Given the description of an element on the screen output the (x, y) to click on. 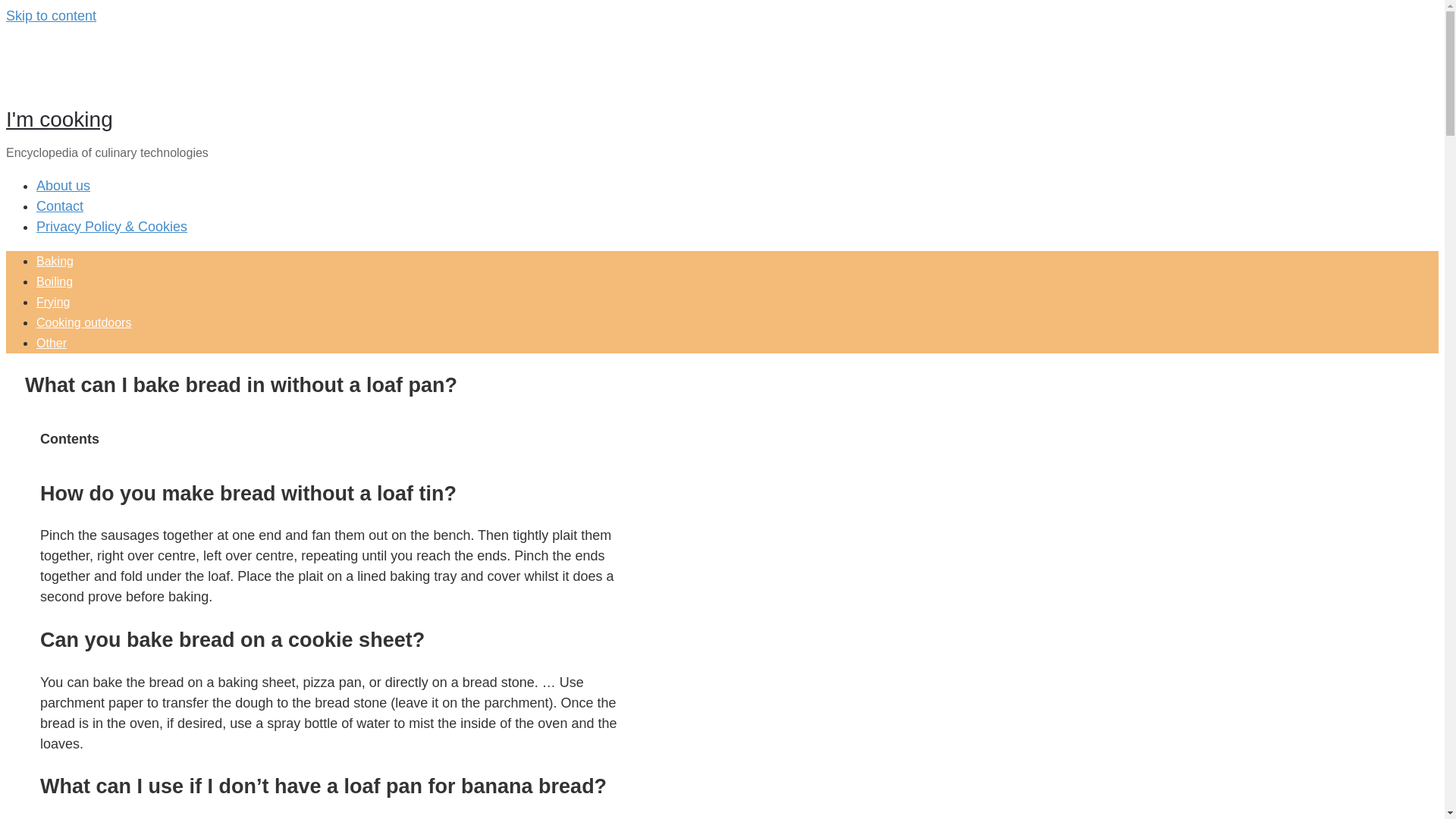
About us (63, 185)
Other (51, 342)
Frying (52, 301)
Baking (55, 260)
Skip to content (50, 15)
I'm cooking (59, 119)
Boiling (54, 281)
Contact (59, 206)
